Given the description of an element on the screen output the (x, y) to click on. 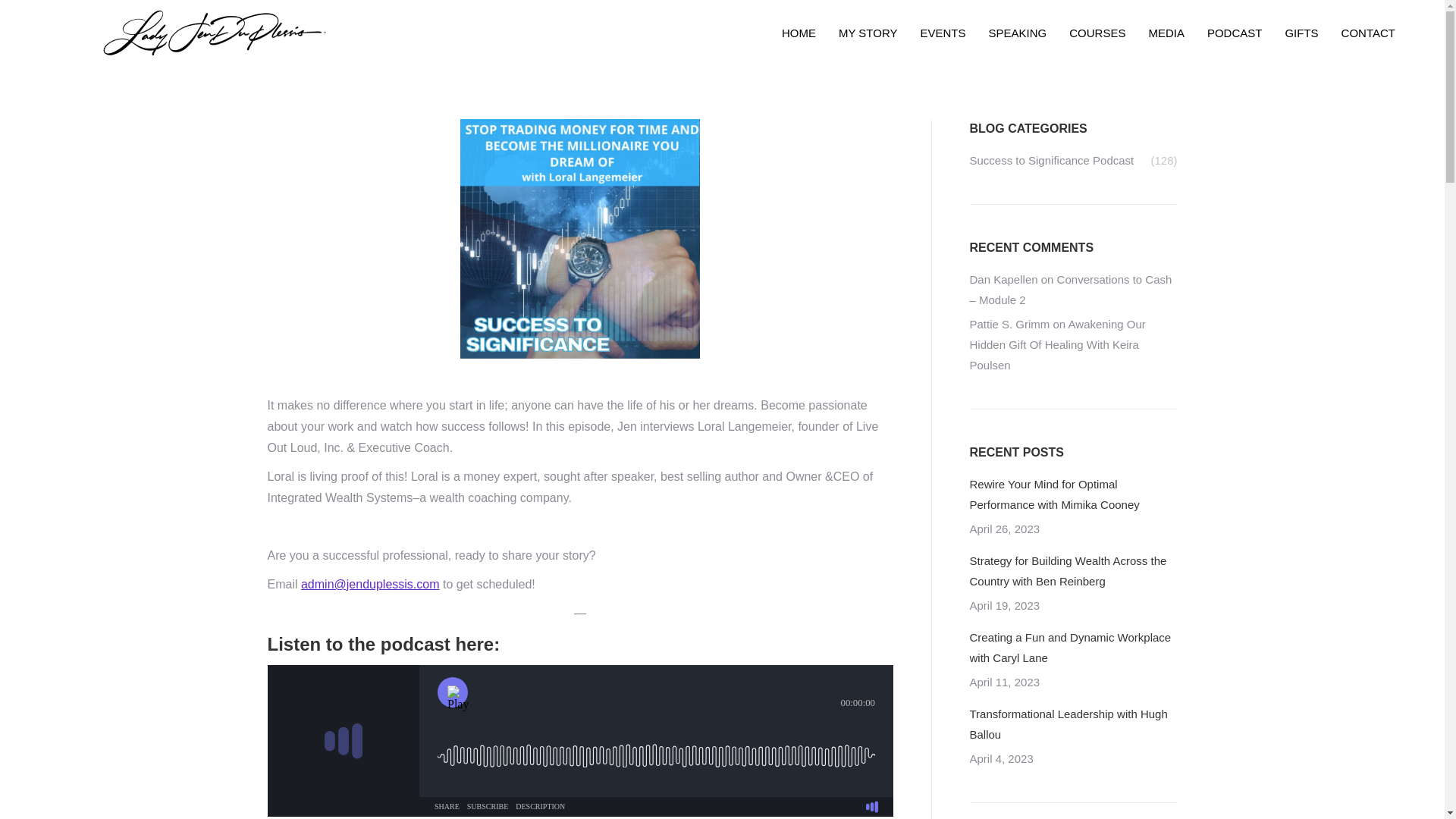
CONTACT (1368, 33)
PODCAST (1235, 33)
EVENTS (942, 33)
MY STORY (867, 33)
GIFTS (1301, 33)
SPEAKING (1018, 33)
COURSES (1097, 33)
HOME (798, 33)
MEDIA (1166, 33)
